Given the description of an element on the screen output the (x, y) to click on. 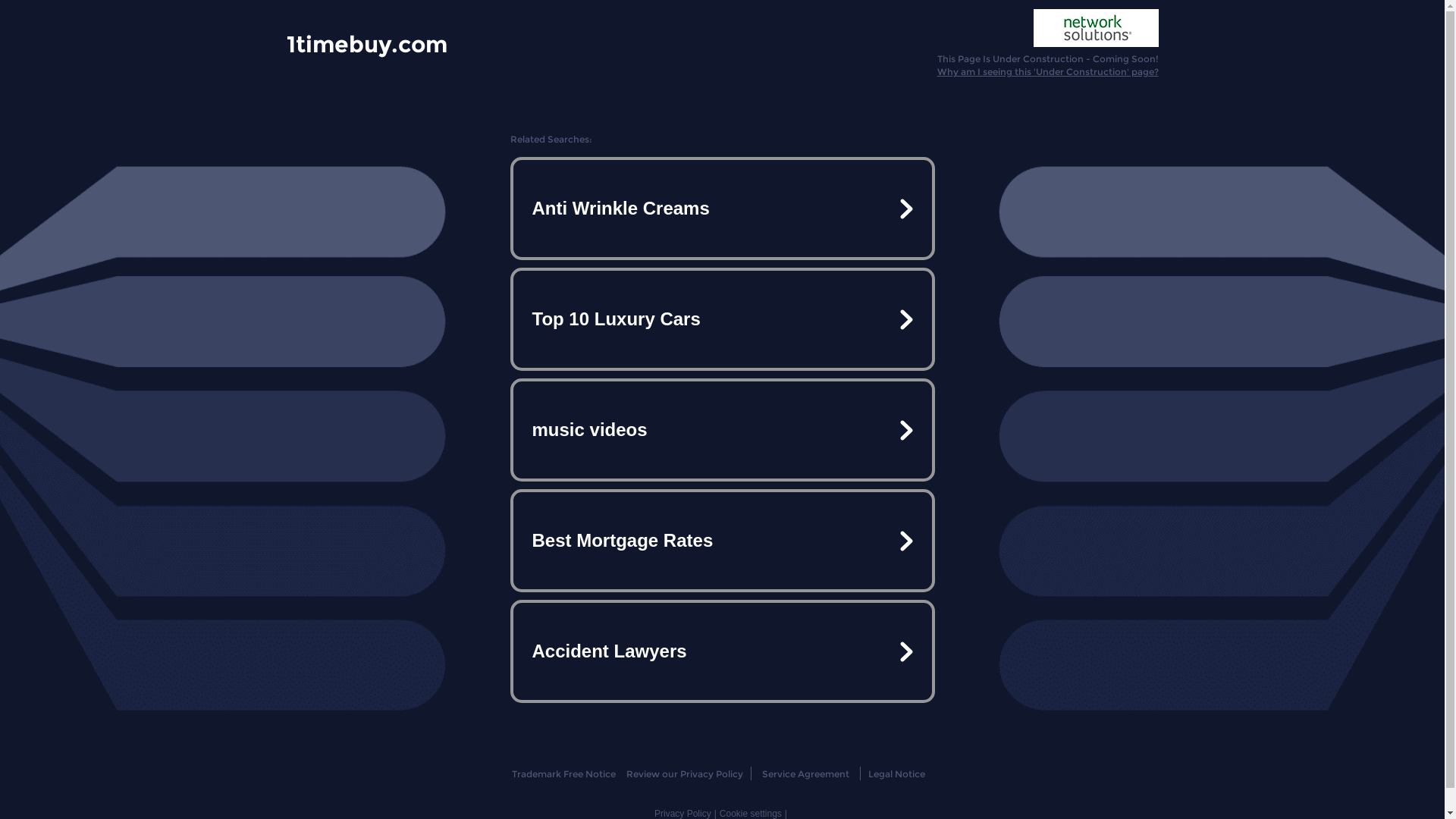
Why am I seeing this 'Under Construction' page? Element type: text (1047, 71)
Review our Privacy Policy Element type: text (684, 773)
Accident Lawyers Element type: text (721, 650)
Trademark Free Notice Element type: text (563, 773)
Top 10 Luxury Cars Element type: text (721, 318)
1timebuy.com Element type: text (366, 43)
music videos Element type: text (721, 429)
Service Agreement Element type: text (805, 773)
Anti Wrinkle Creams Element type: text (721, 208)
Legal Notice Element type: text (896, 773)
Best Mortgage Rates Element type: text (721, 540)
